Given the description of an element on the screen output the (x, y) to click on. 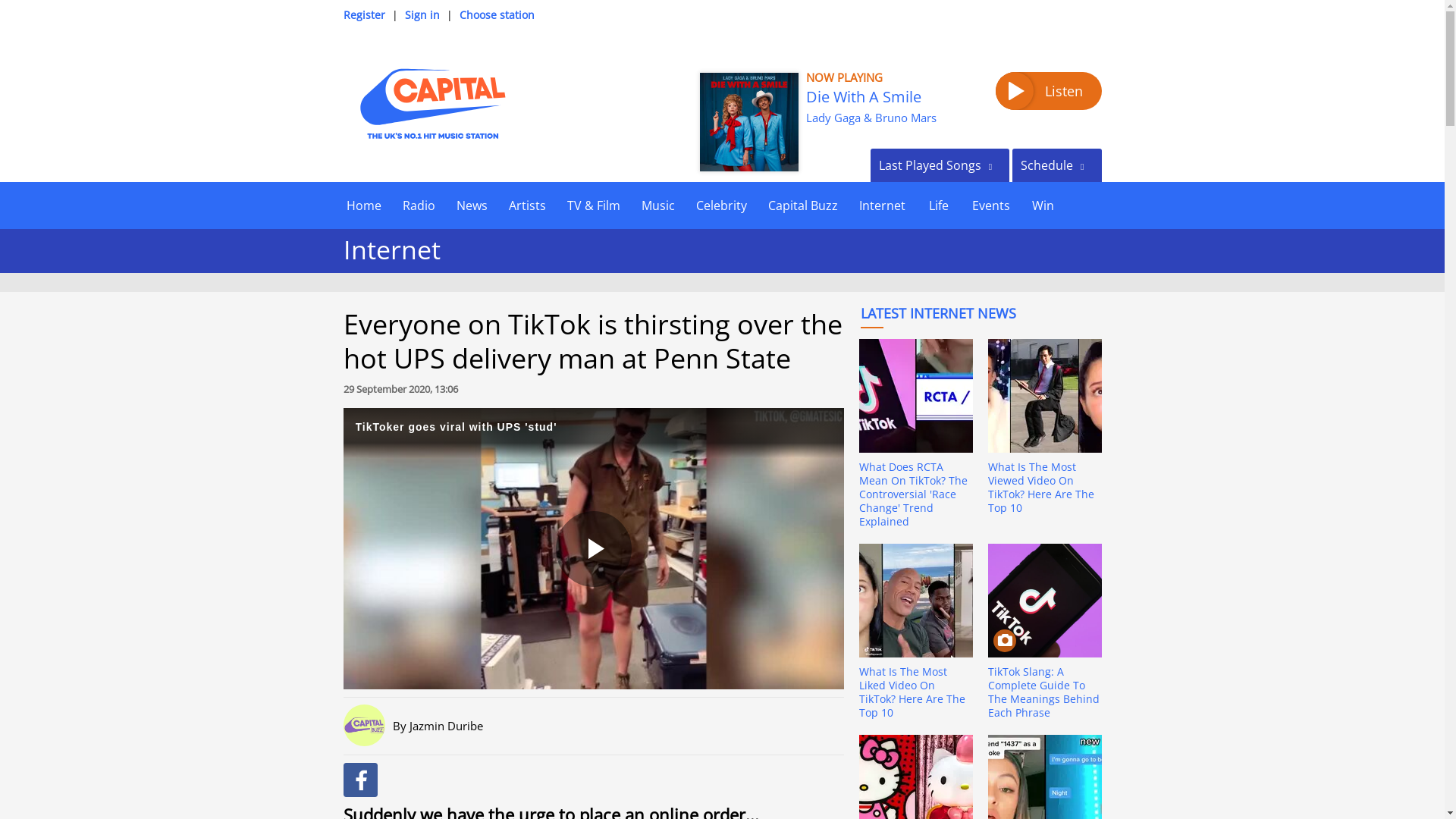
Sign in (421, 14)
Choose station (497, 14)
Listen (1047, 90)
Artists (526, 205)
Radio (418, 205)
Music (657, 205)
Capital Buzz (802, 205)
Life (937, 205)
Last Played Songs (939, 164)
Events (990, 205)
